Given the description of an element on the screen output the (x, y) to click on. 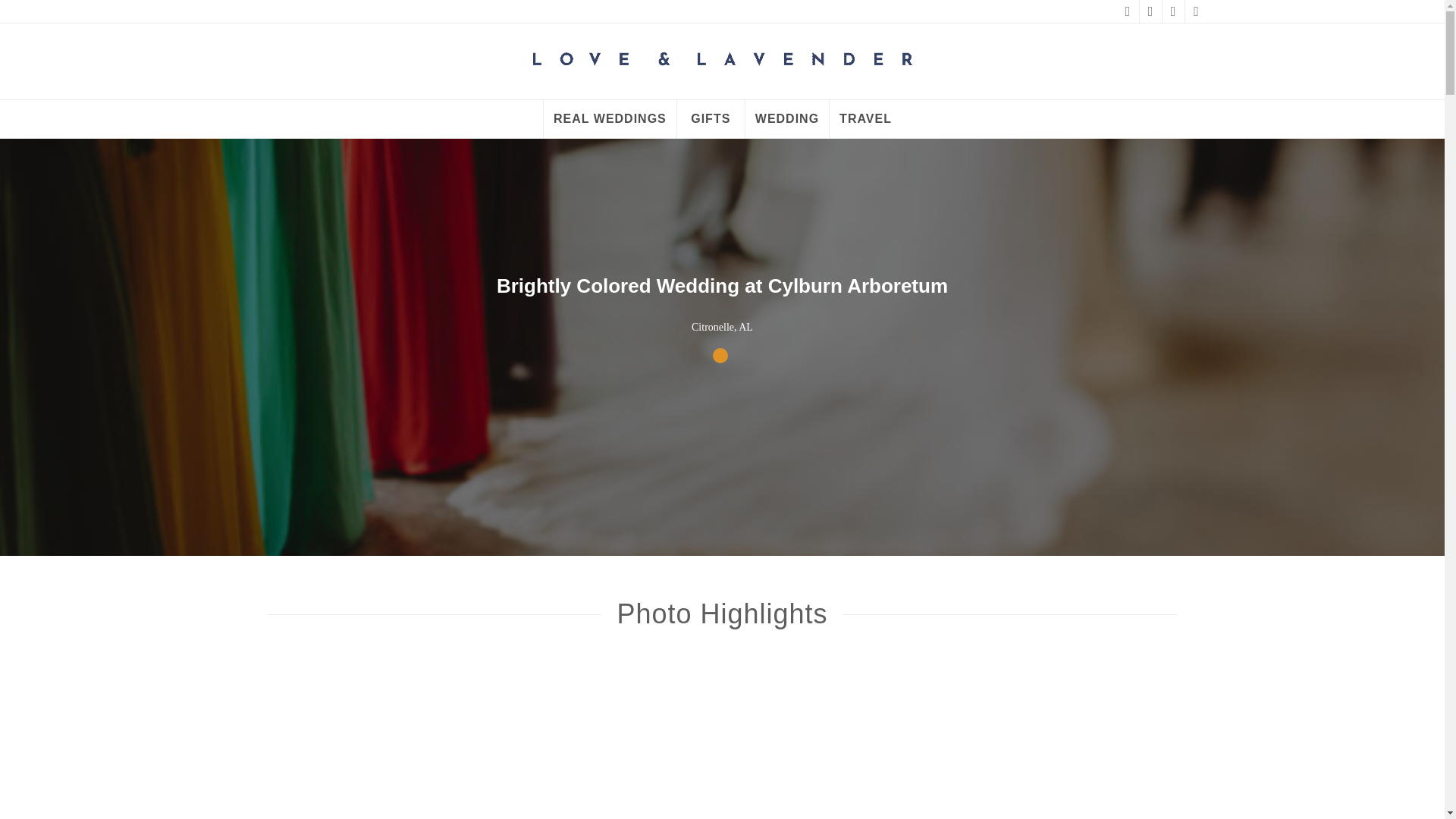
GIFTS (710, 118)
TRAVEL (864, 118)
Pinterest (1149, 11)
Twitter (1172, 11)
Facebook (1127, 11)
Instagram (1196, 11)
REAL WEDDINGS (610, 118)
WEDDING (786, 118)
Love and Lavender Logo (721, 61)
